Given the description of an element on the screen output the (x, y) to click on. 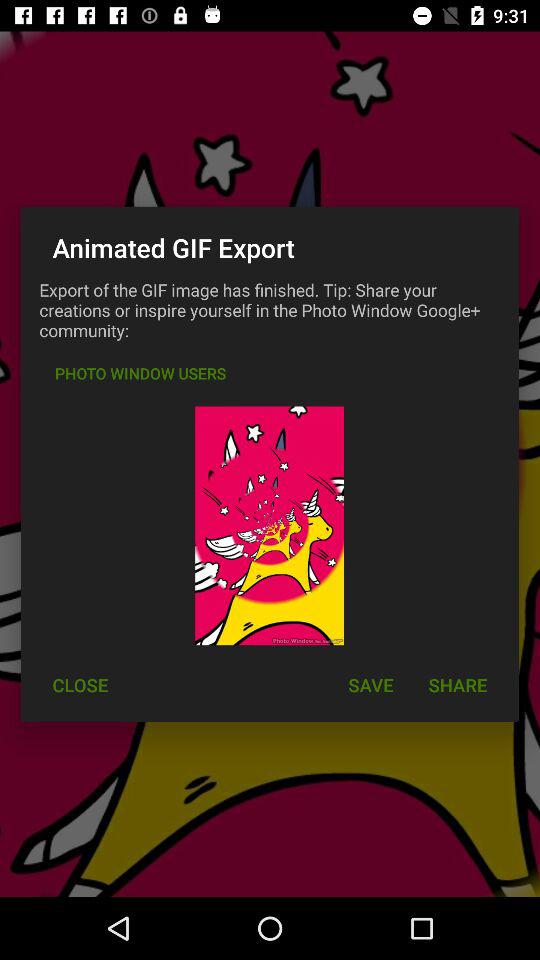
flip until the save item (370, 684)
